Given the description of an element on the screen output the (x, y) to click on. 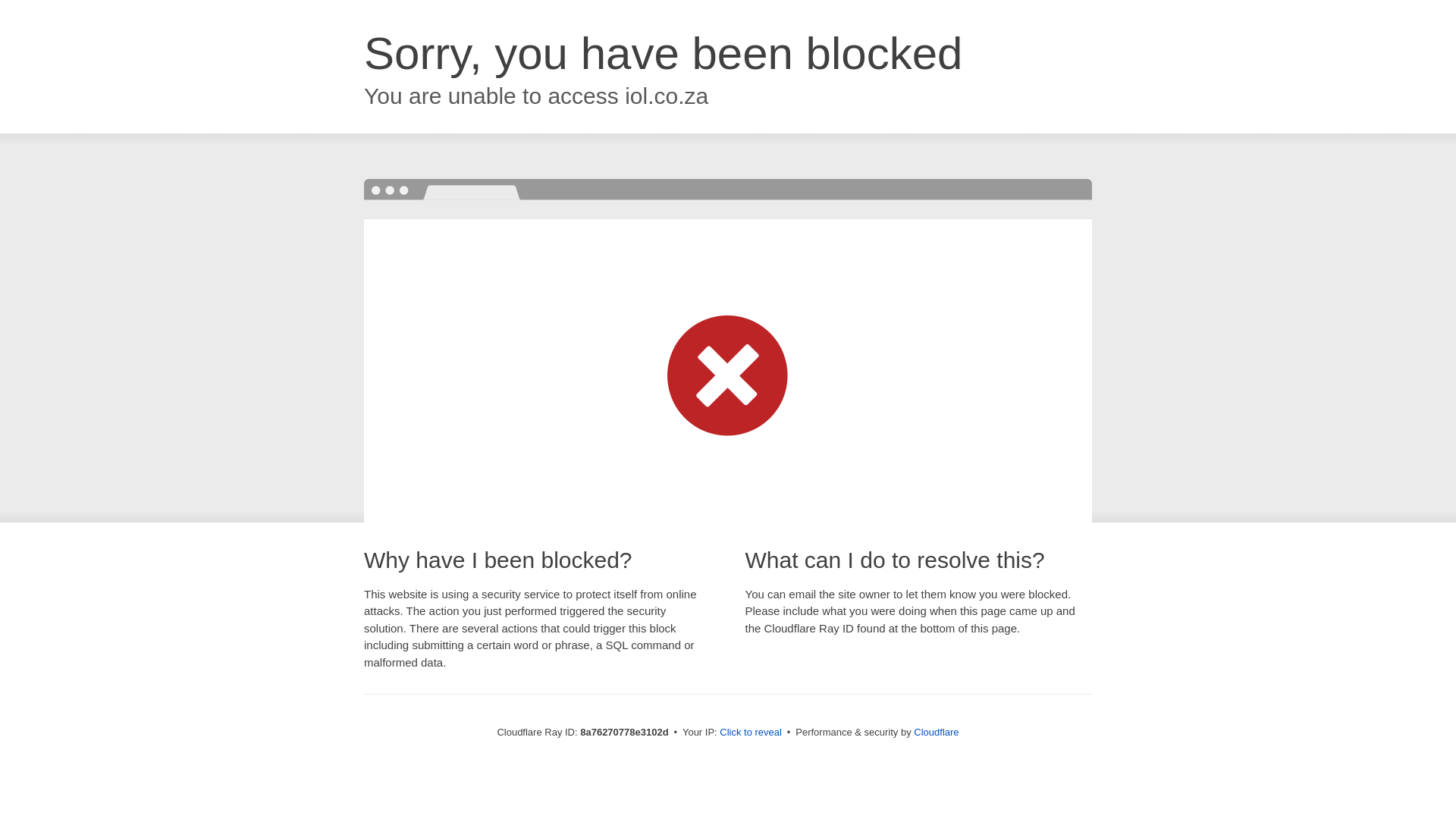
Cloudflare (936, 731)
Click to reveal (750, 732)
